Given the description of an element on the screen output the (x, y) to click on. 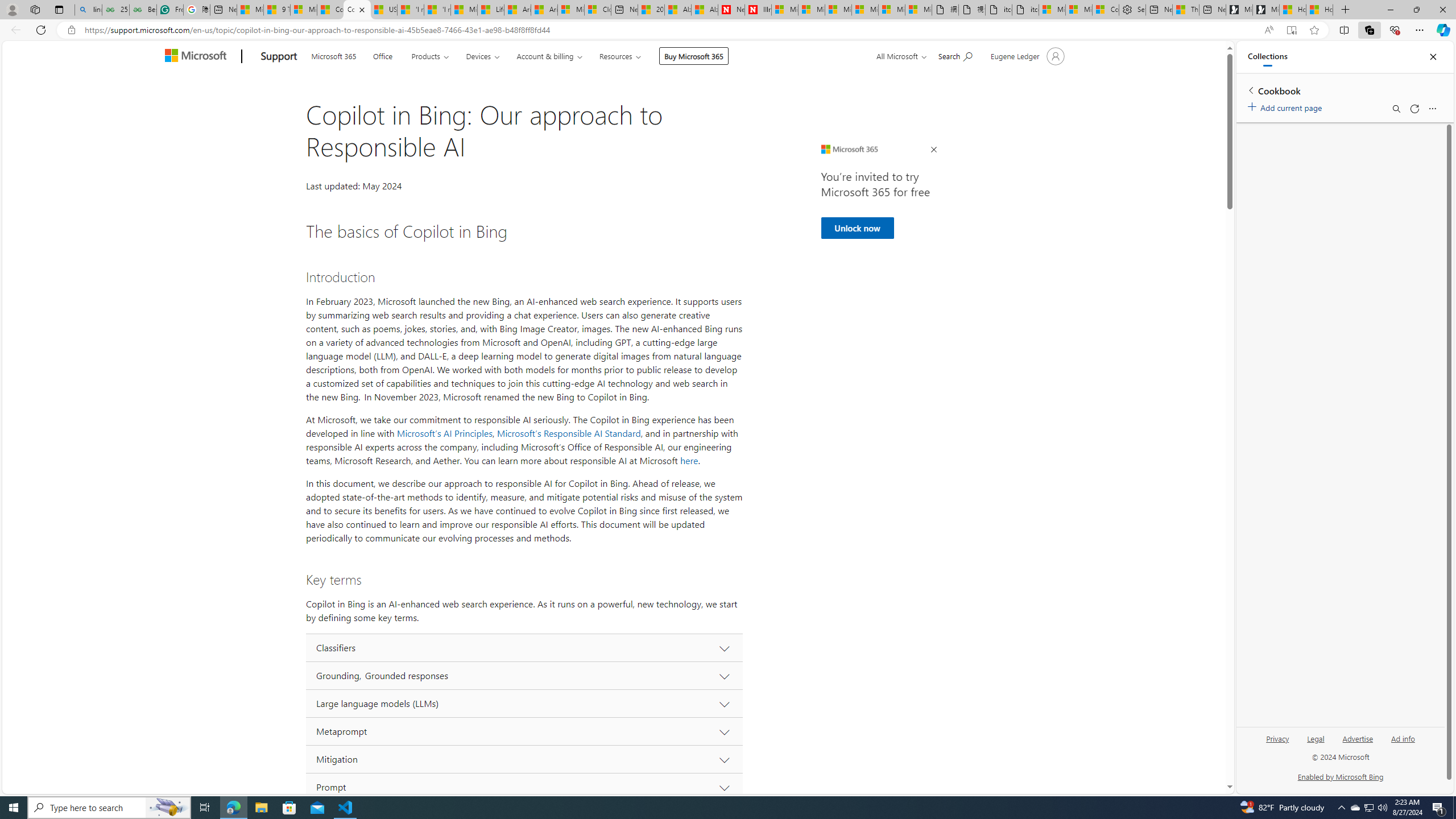
25 Basic Linux Commands For Beginners - GeeksforGeeks (115, 9)
Illness news & latest pictures from Newsweek.com (757, 9)
Best SSL Certificates Provider in India - GeeksforGeeks (143, 9)
Office (382, 54)
USA TODAY - MSN (383, 9)
Office (382, 54)
Buy Microsoft 365 (693, 55)
